Given the description of an element on the screen output the (x, y) to click on. 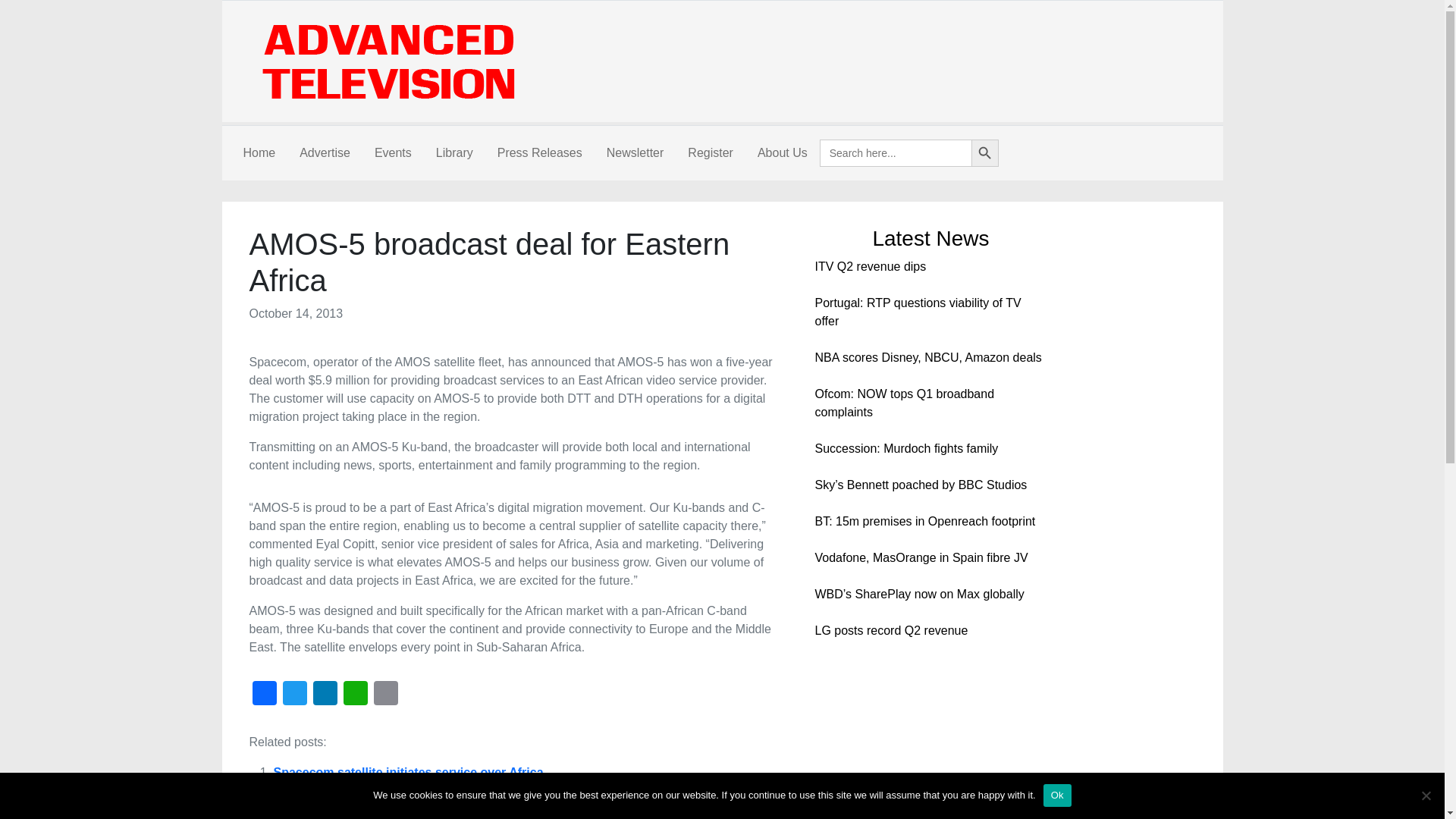
Paralympic Games to Africa with GlobeCast (399, 808)
WhatsApp (354, 694)
Paralympic Games to Africa with GlobeCast (399, 808)
LinkedIn (323, 694)
Spacecom satellite initiates service over Africa (408, 771)
Vodafone, MasOrange in Spain fibre JV (920, 557)
Twitter (293, 694)
Ofcom: NOW tops Q1 broadband complaints (903, 402)
About Us (782, 153)
Register (710, 153)
Email (384, 694)
LG posts record Q2 revenue (890, 630)
Email (384, 694)
BT: 15m premises in Openreach footprint (924, 521)
Library (453, 153)
